Given the description of an element on the screen output the (x, y) to click on. 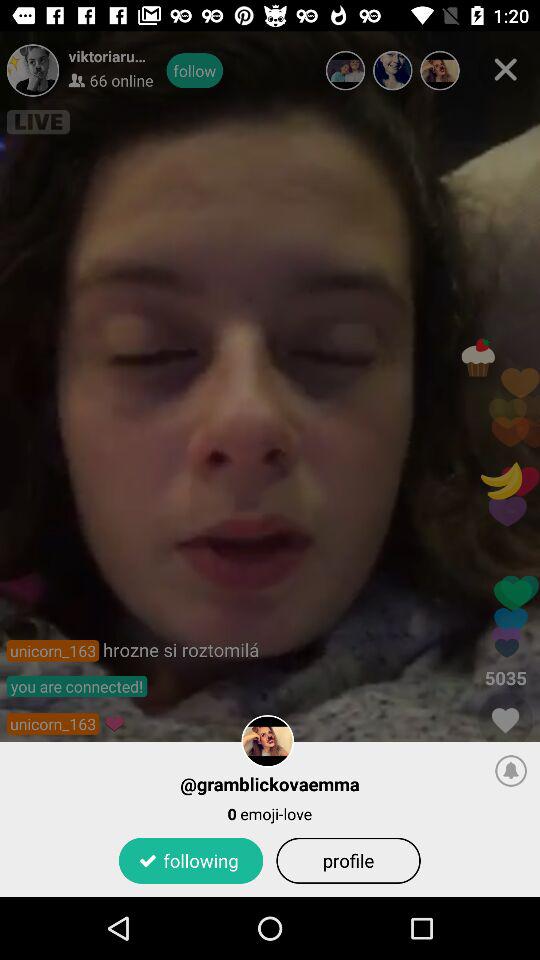
flip to following app (190, 860)
